Given the description of an element on the screen output the (x, y) to click on. 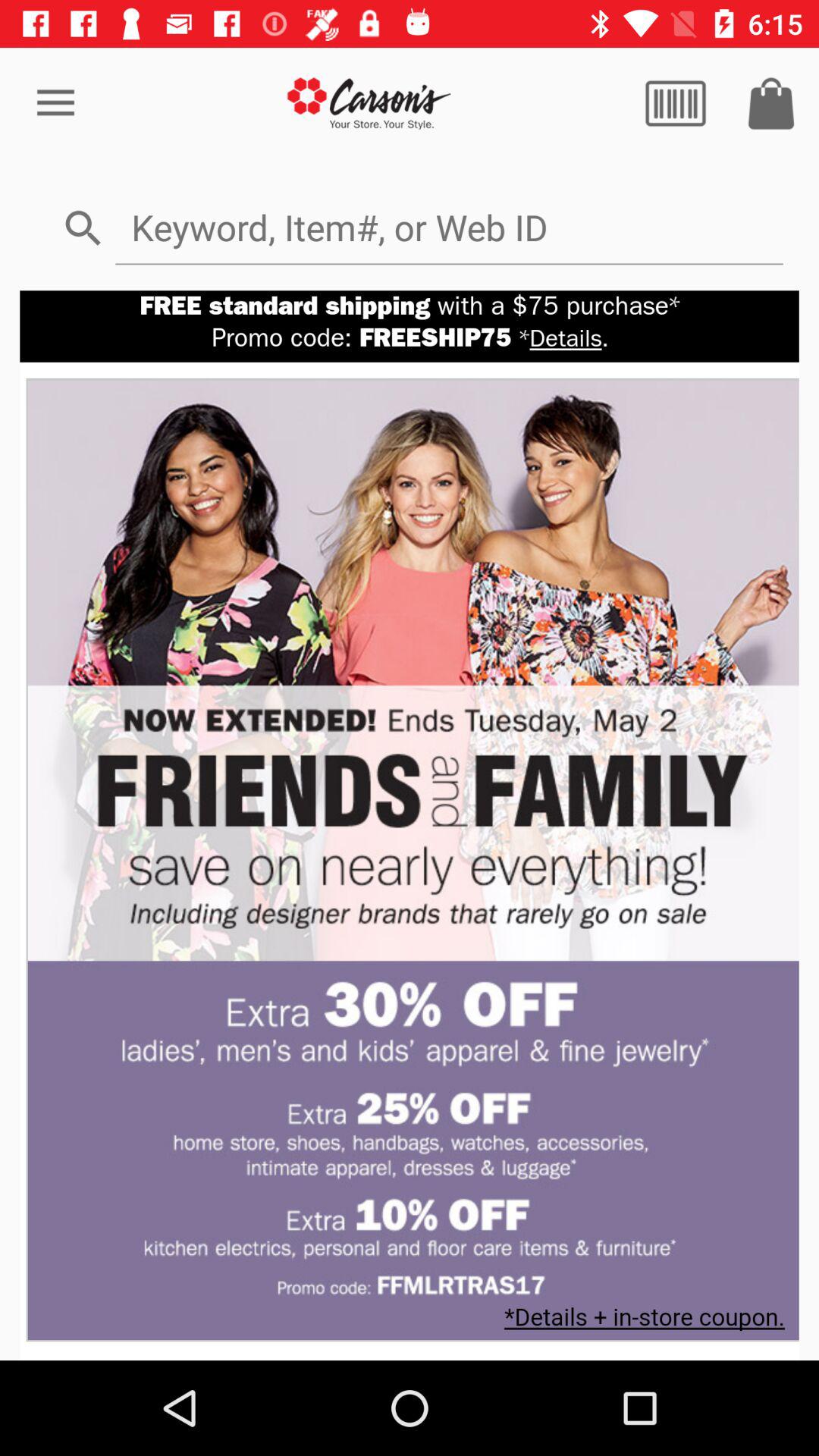
shows carsons option (369, 103)
